Given the description of an element on the screen output the (x, y) to click on. 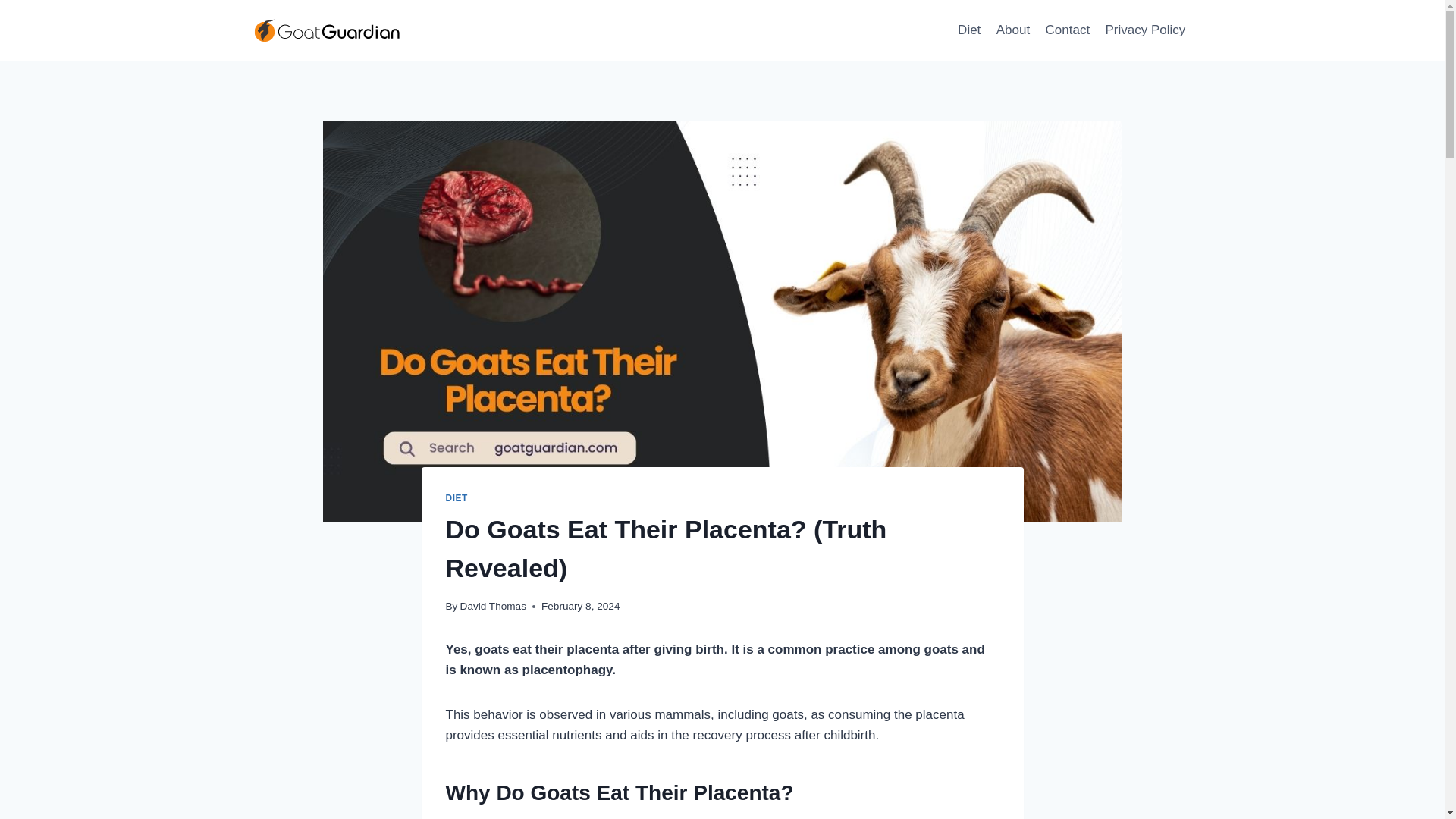
Diet (969, 30)
About (1013, 30)
Contact (1066, 30)
Privacy Policy (1144, 30)
David Thomas (492, 605)
DIET (456, 498)
